Given the description of an element on the screen output the (x, y) to click on. 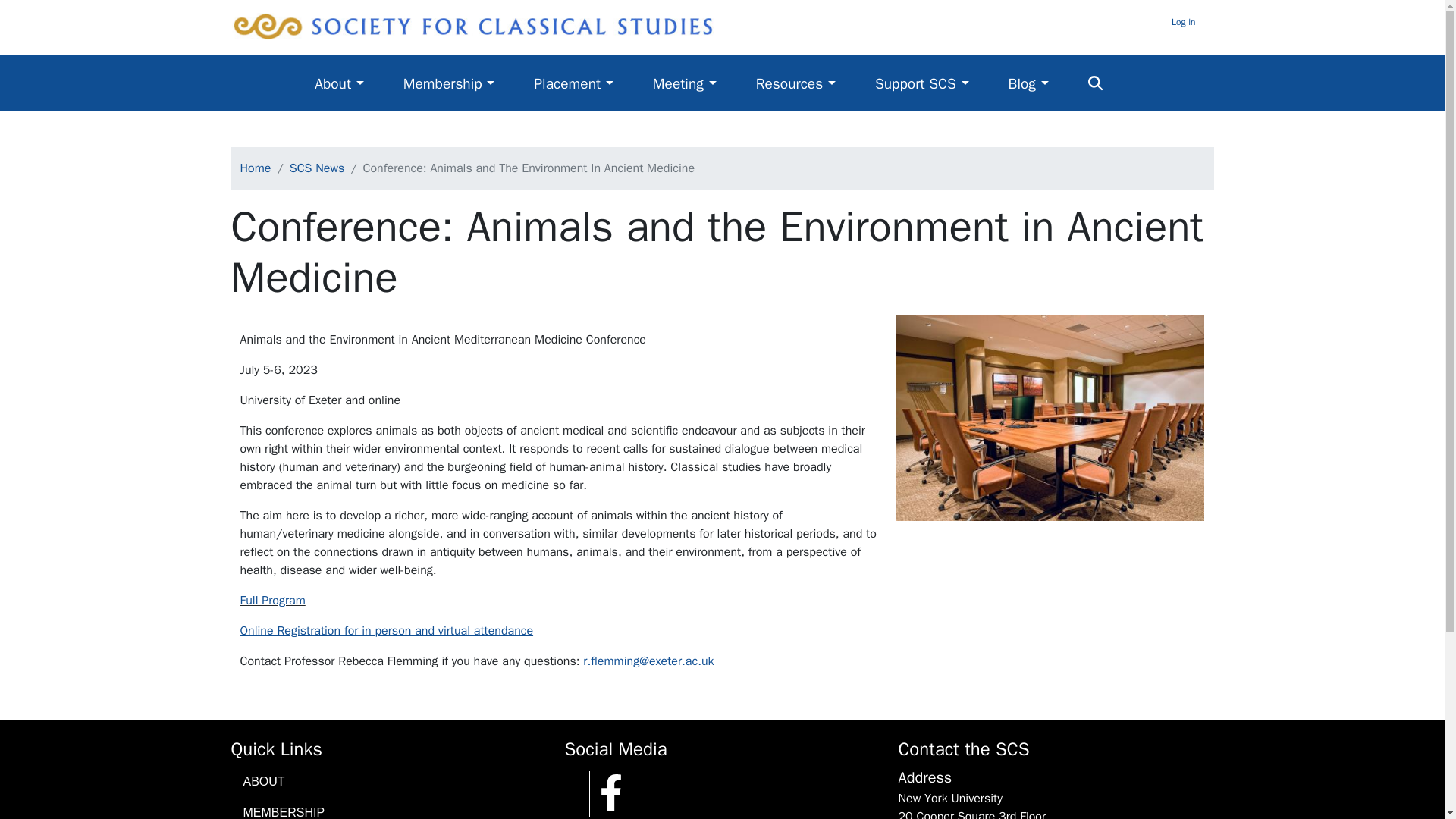
About (352, 84)
Membership (462, 84)
The home page of the SCS Blog. (1042, 84)
SCS Solr Search Page (1108, 84)
A link to the SCS' job placement service (586, 84)
Placement (586, 84)
Log in (1183, 21)
Meeting (697, 84)
